Given the description of an element on the screen output the (x, y) to click on. 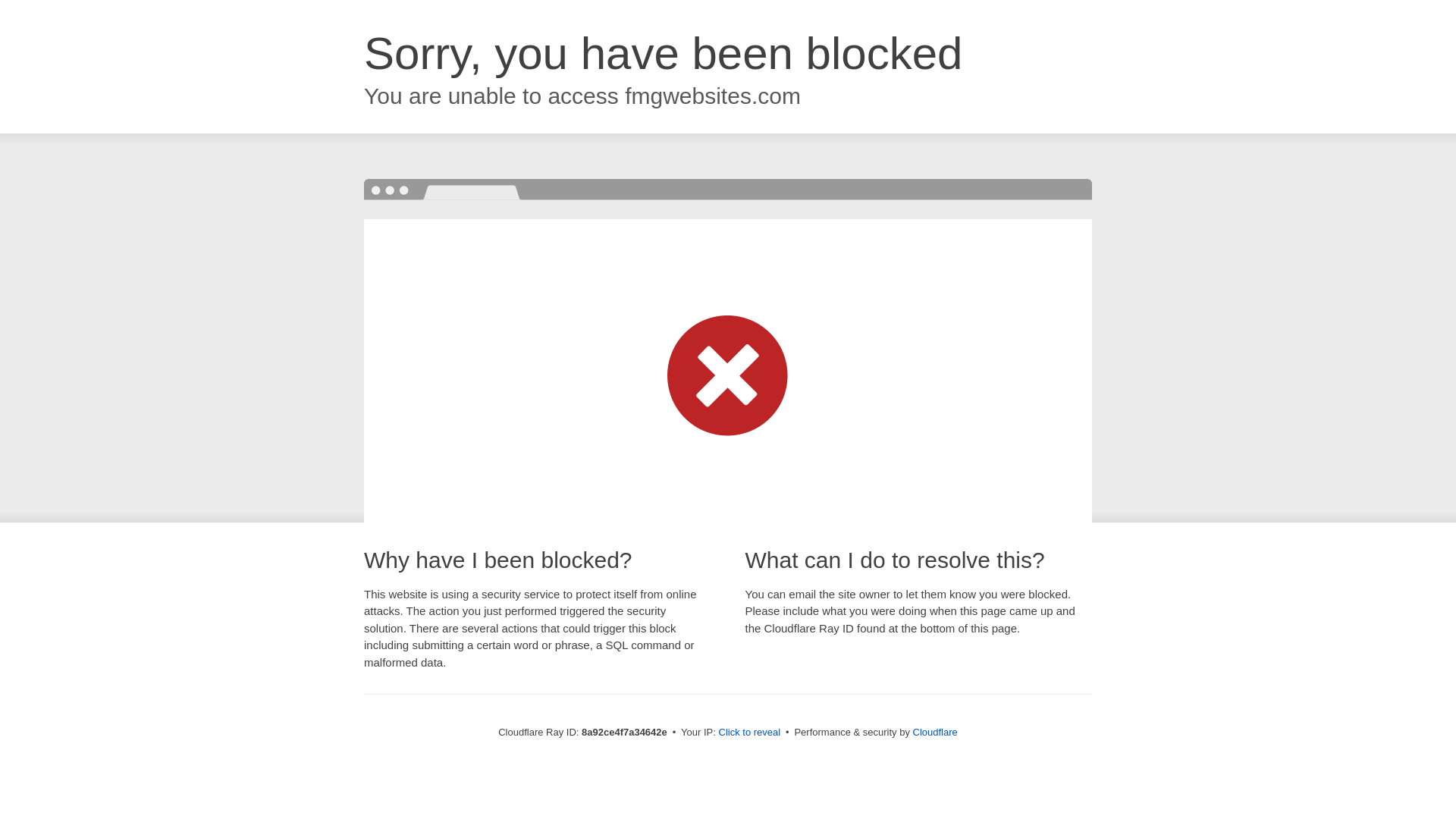
Click to reveal (749, 732)
Cloudflare (935, 731)
